Given the description of an element on the screen output the (x, y) to click on. 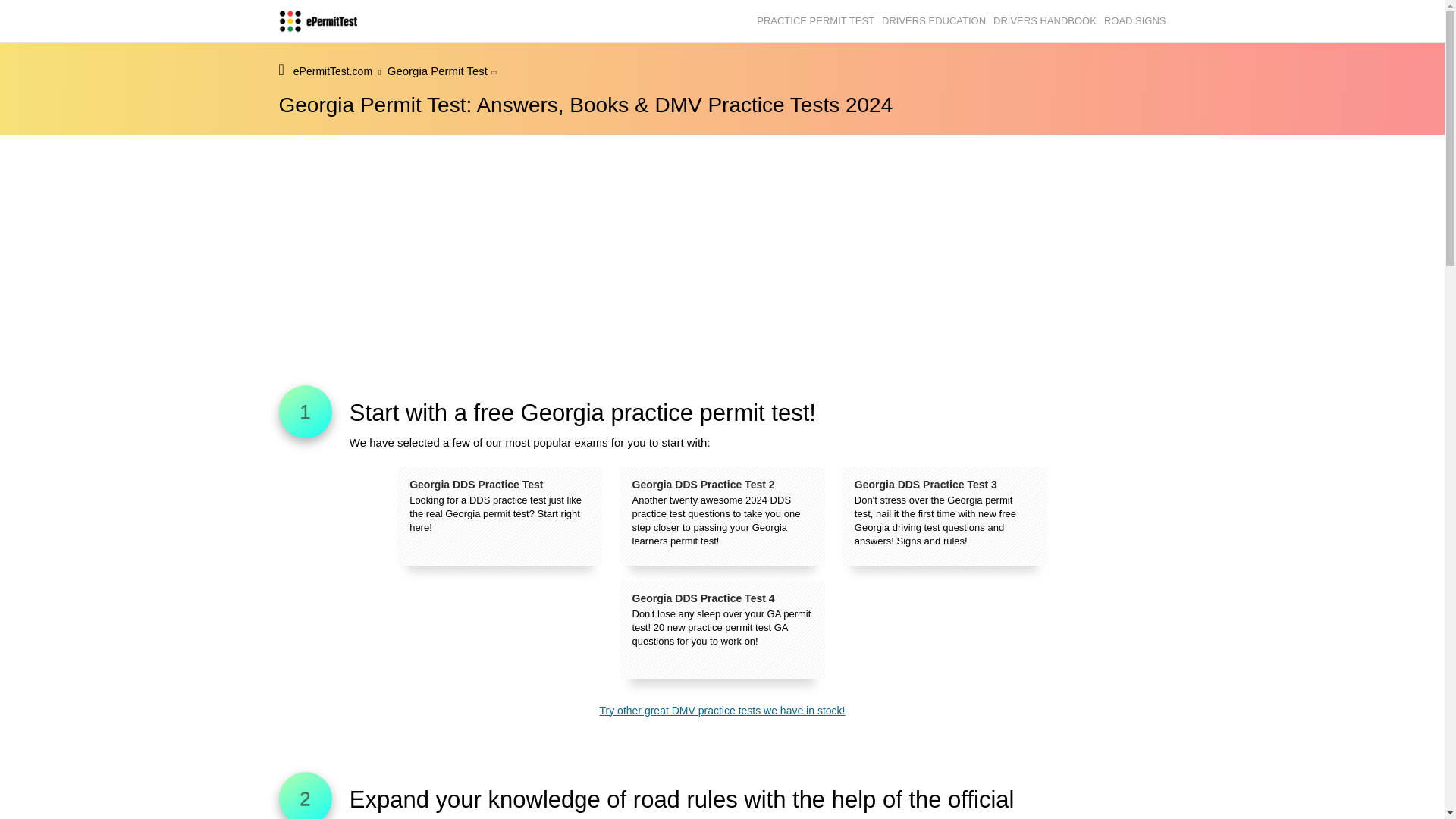
ePermittTest (317, 21)
Georgia DDS Practice Test 3 (944, 515)
Georgia Road Signs (1134, 21)
PRACTICE PERMIT TEST (816, 21)
DRIVERS EDUCATION (933, 21)
Georgia DDS Practice Test 4 (722, 629)
Georgia DDS Practice Test (499, 515)
